Given the description of an element on the screen output the (x, y) to click on. 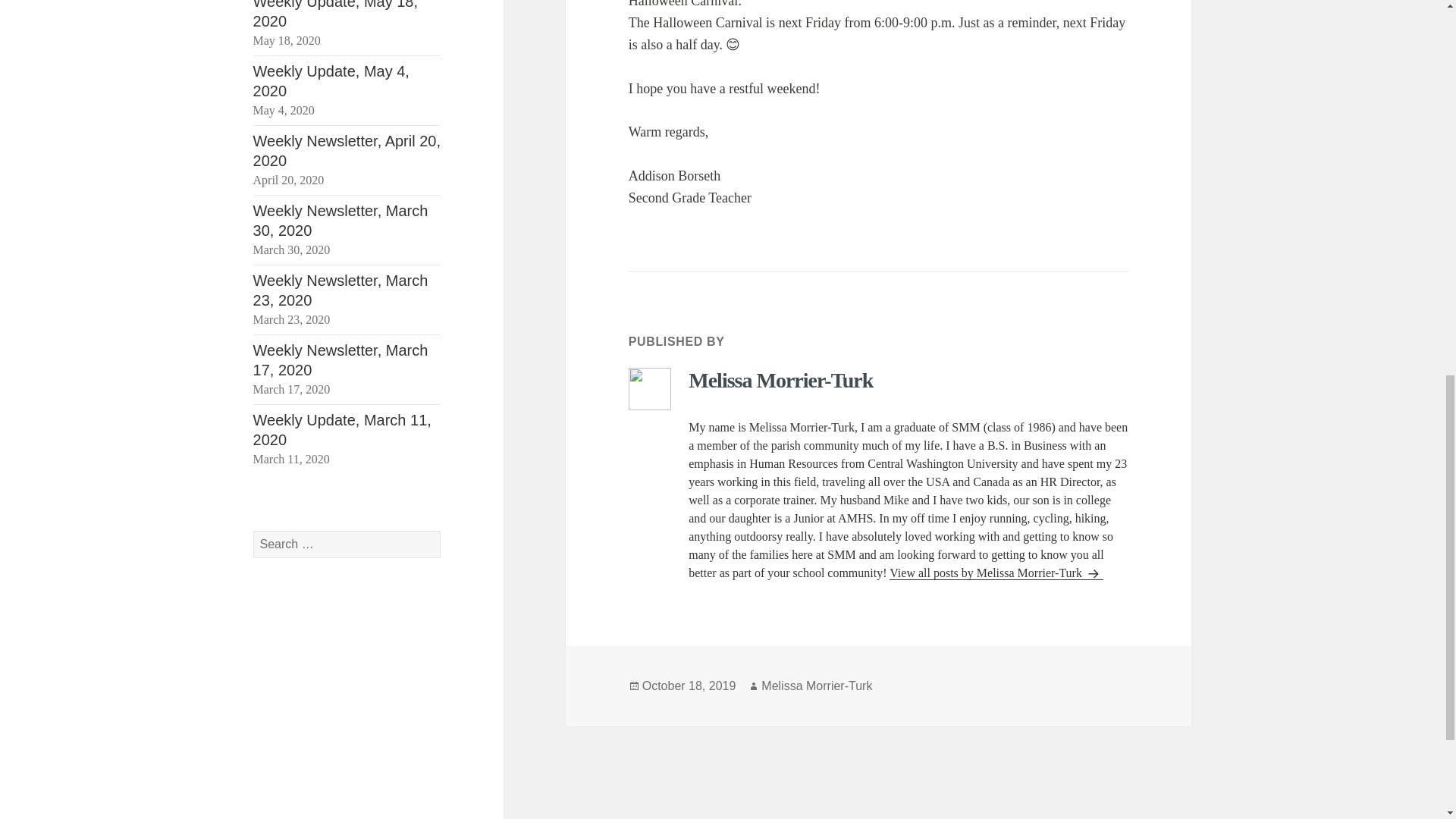
View all posts by Melissa Morrier-Turk (996, 572)
Weekly Newsletter, April 20, 2020 (347, 150)
Melissa Morrier-Turk (816, 685)
Weekly Update, May 4, 2020 (331, 81)
October 18, 2019 (689, 685)
Weekly Newsletter, March 30, 2020 (340, 220)
Weekly Update, March 11, 2020 (341, 429)
Weekly Newsletter, March 23, 2020 (340, 289)
Weekly Newsletter, March 17, 2020 (340, 360)
Weekly Update, May 18, 2020 (336, 14)
